Given the description of an element on the screen output the (x, y) to click on. 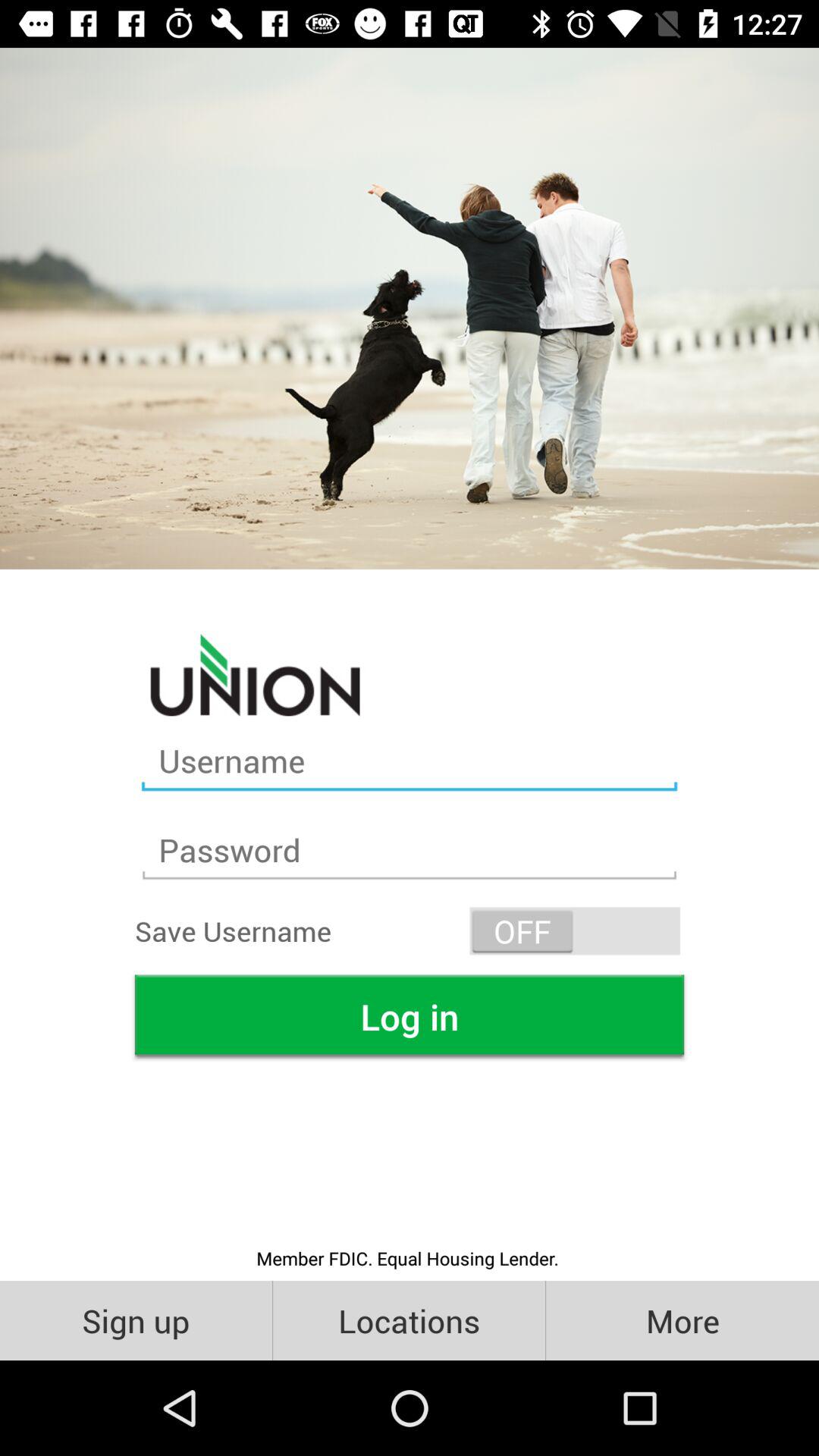
turn off the icon above the member fdic equal (409, 1016)
